Given the description of an element on the screen output the (x, y) to click on. 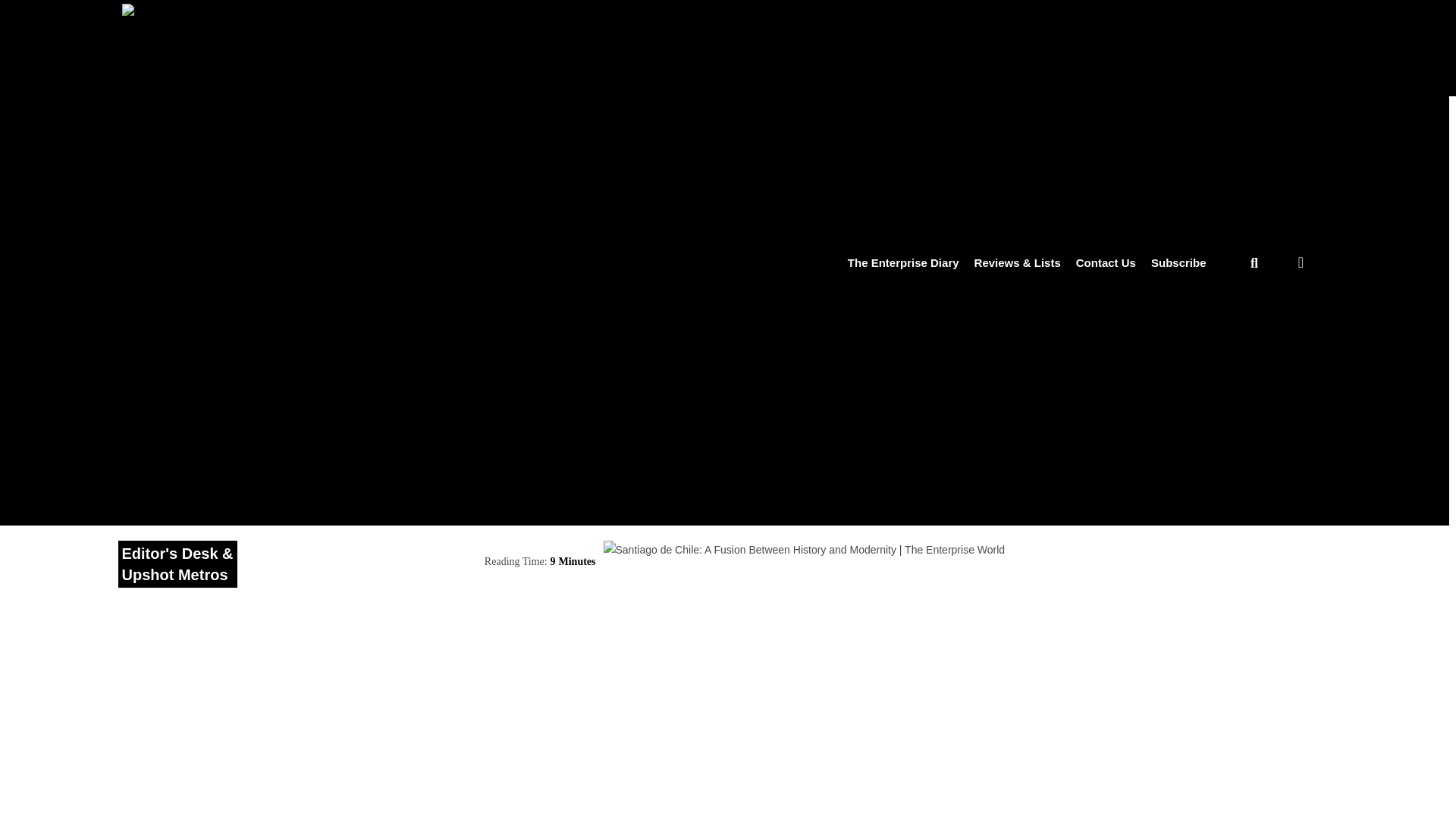
Editor's Desk (168, 553)
Contact Us (1105, 262)
The Enterprise Diary (903, 262)
Upshot Metros (173, 574)
Subscribe (1179, 262)
